Given the description of an element on the screen output the (x, y) to click on. 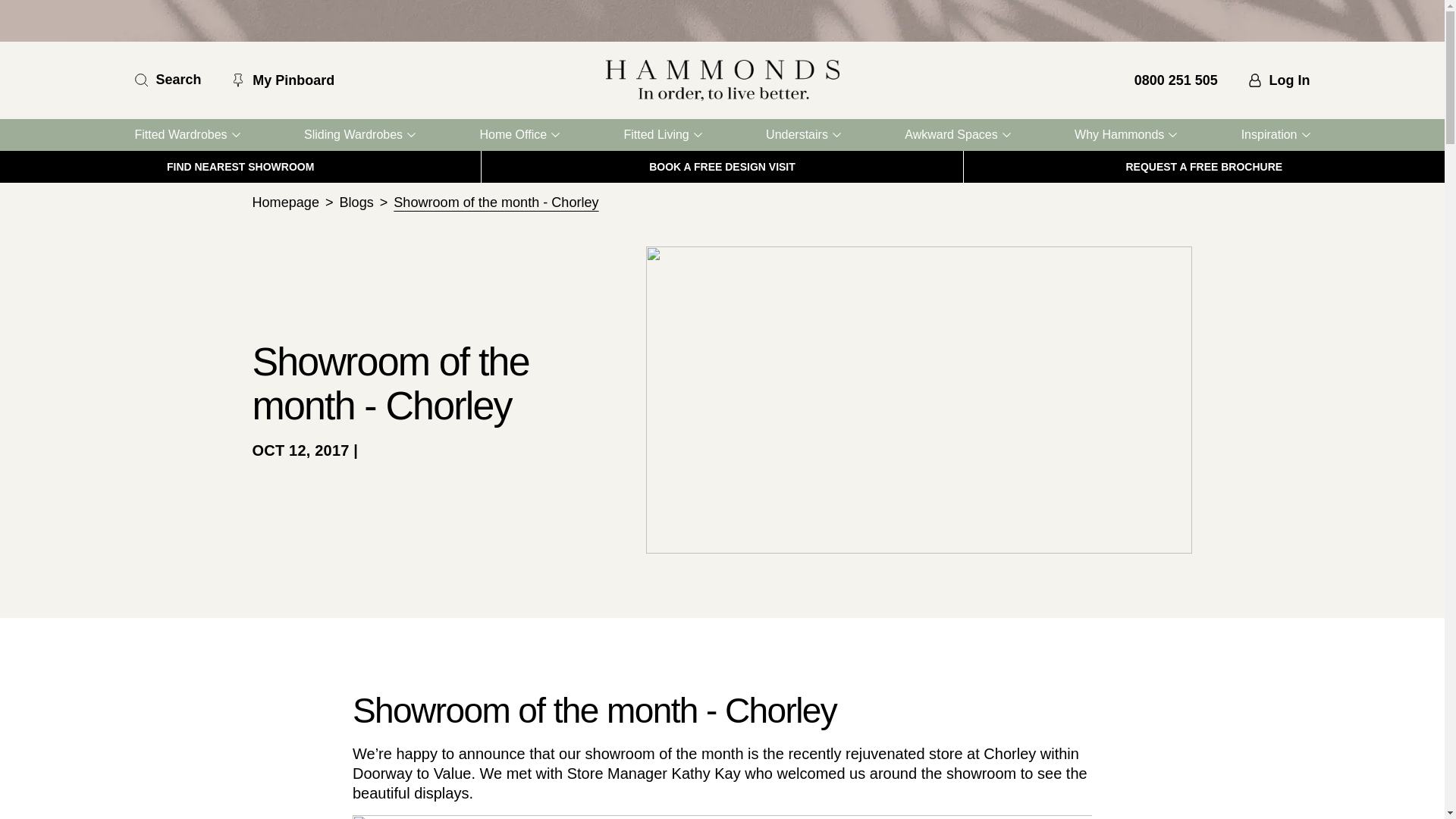
Homepage (284, 201)
Fitted Wardrobes (187, 134)
Blogs (356, 201)
Showroom of the month - Chorley (495, 201)
Fitted Living (662, 134)
0800 251 505 (1175, 79)
Search (168, 79)
0800 251 505 (1175, 79)
Home Office (519, 134)
Sliding Wardrobes (359, 134)
